Given the description of an element on the screen output the (x, y) to click on. 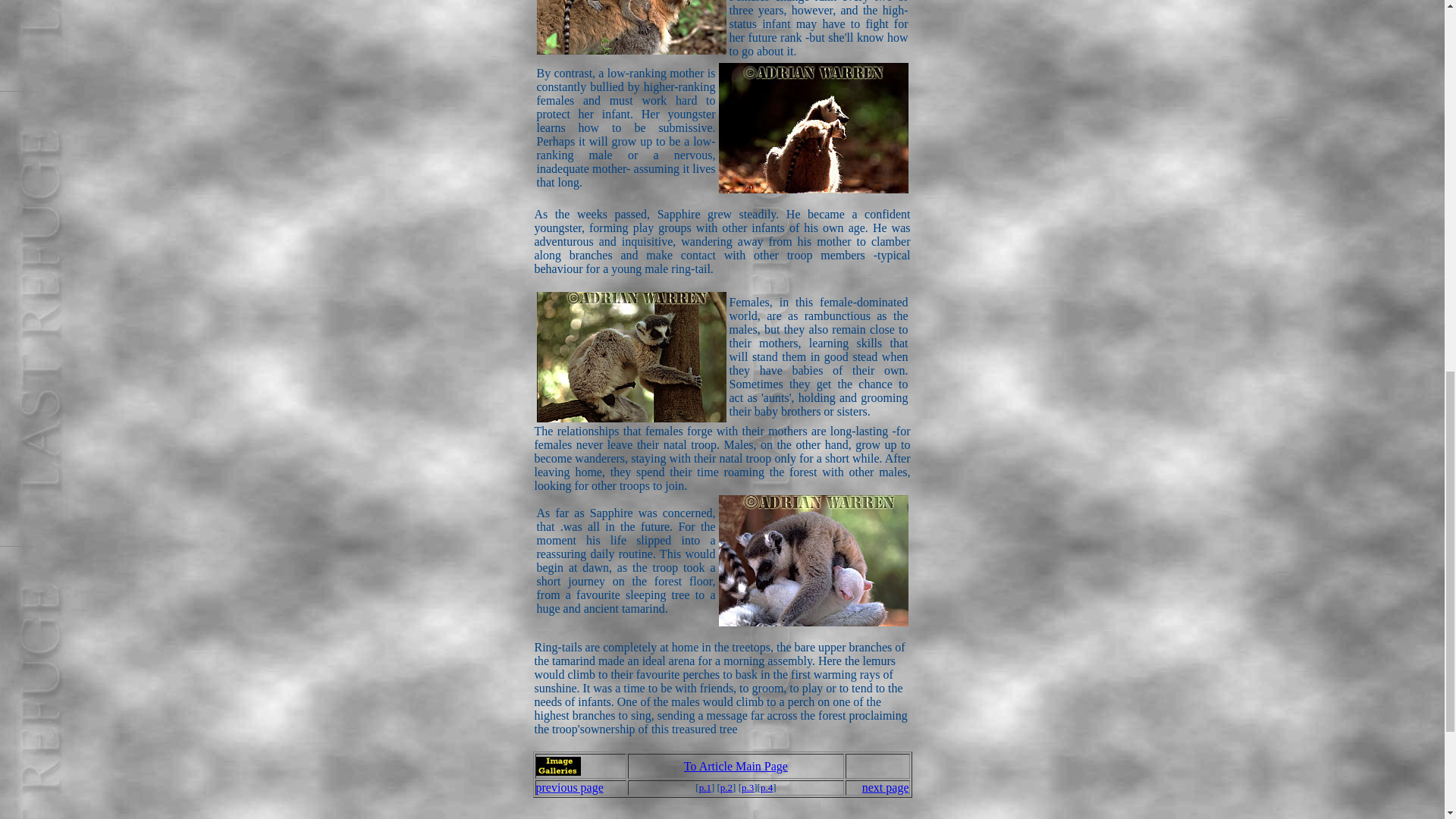
p.4 (766, 787)
p.2 (726, 787)
p.1 (704, 787)
To Article Main Page (735, 766)
previous page (568, 787)
next page (884, 787)
p.3 (747, 787)
